Given the description of an element on the screen output the (x, y) to click on. 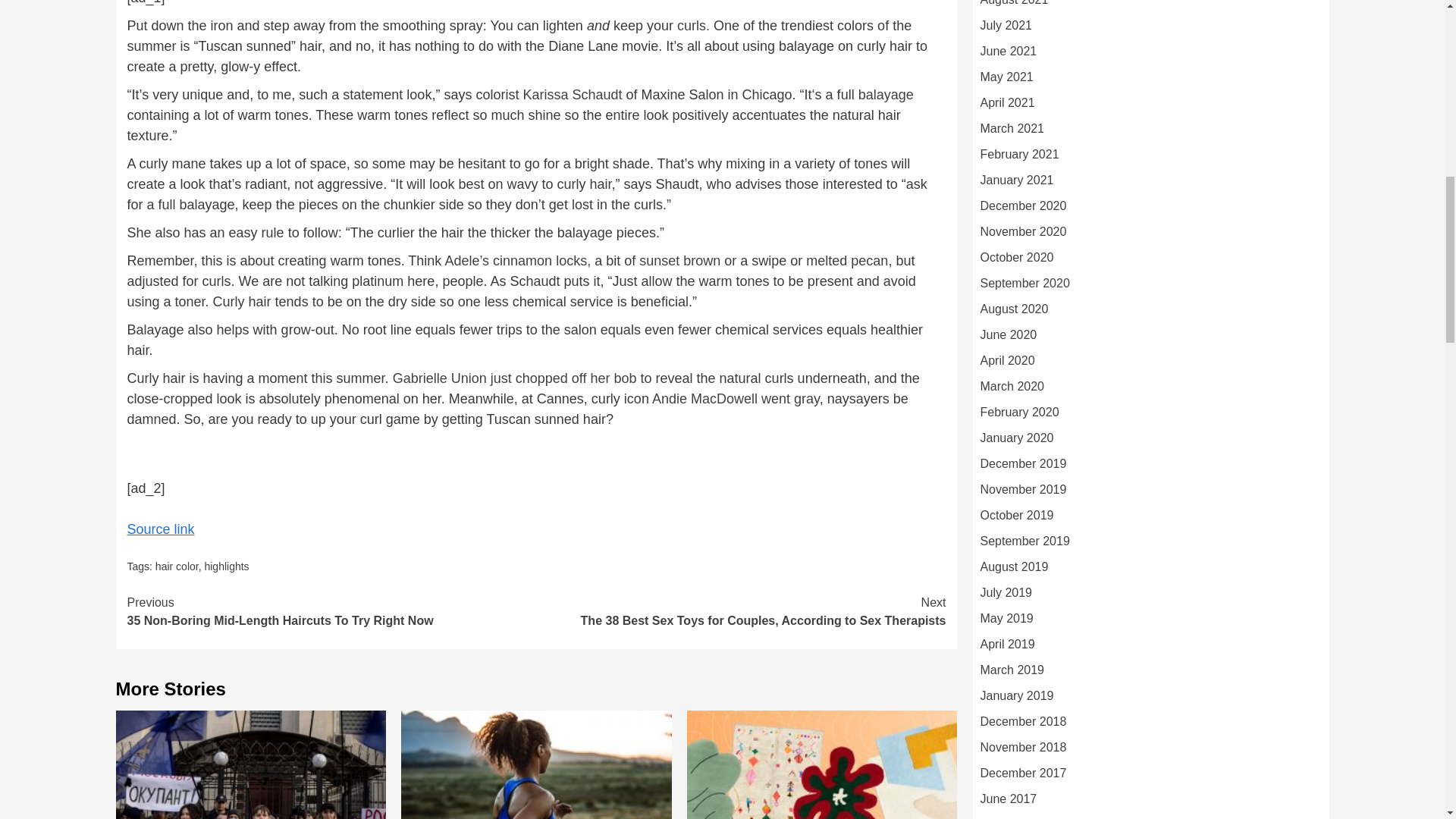
Karissa Schaudt (571, 94)
hair color (176, 566)
Gabrielle Union just chopped off her bob (515, 378)
melted pecan (847, 260)
balayage (886, 94)
Andie MacDowell went gray (735, 398)
highlights (225, 566)
Source link (161, 529)
sunset brown (332, 611)
curls. (679, 260)
